Given the description of an element on the screen output the (x, y) to click on. 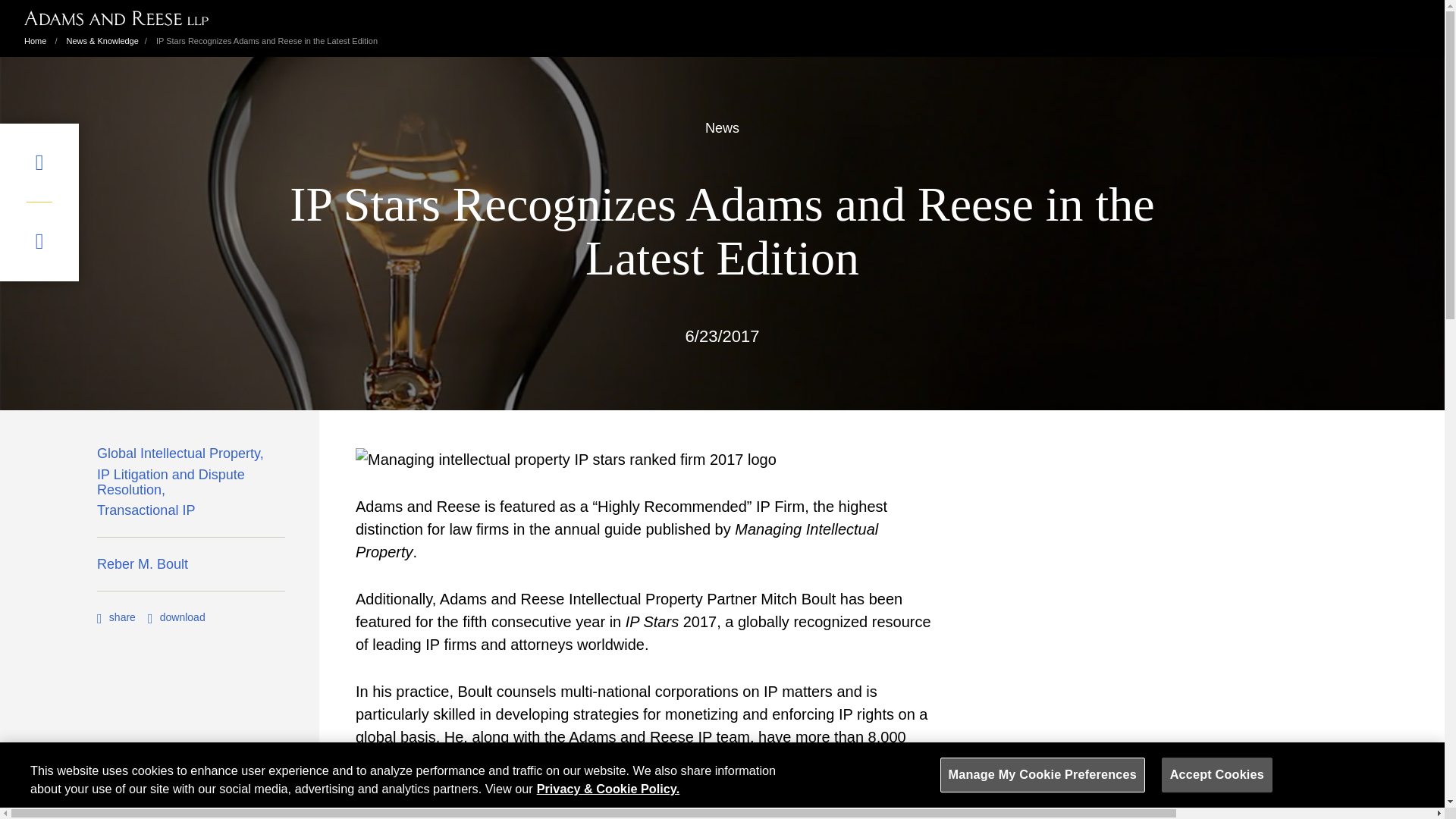
search (39, 240)
Transactional IP (146, 513)
Accept Cookies (1216, 774)
Reber M. Boult (142, 567)
IP Litigation and Dispute Resolution (191, 485)
Home (35, 40)
Global Intellectual Property (182, 456)
menu (39, 161)
download (176, 616)
